Given the description of an element on the screen output the (x, y) to click on. 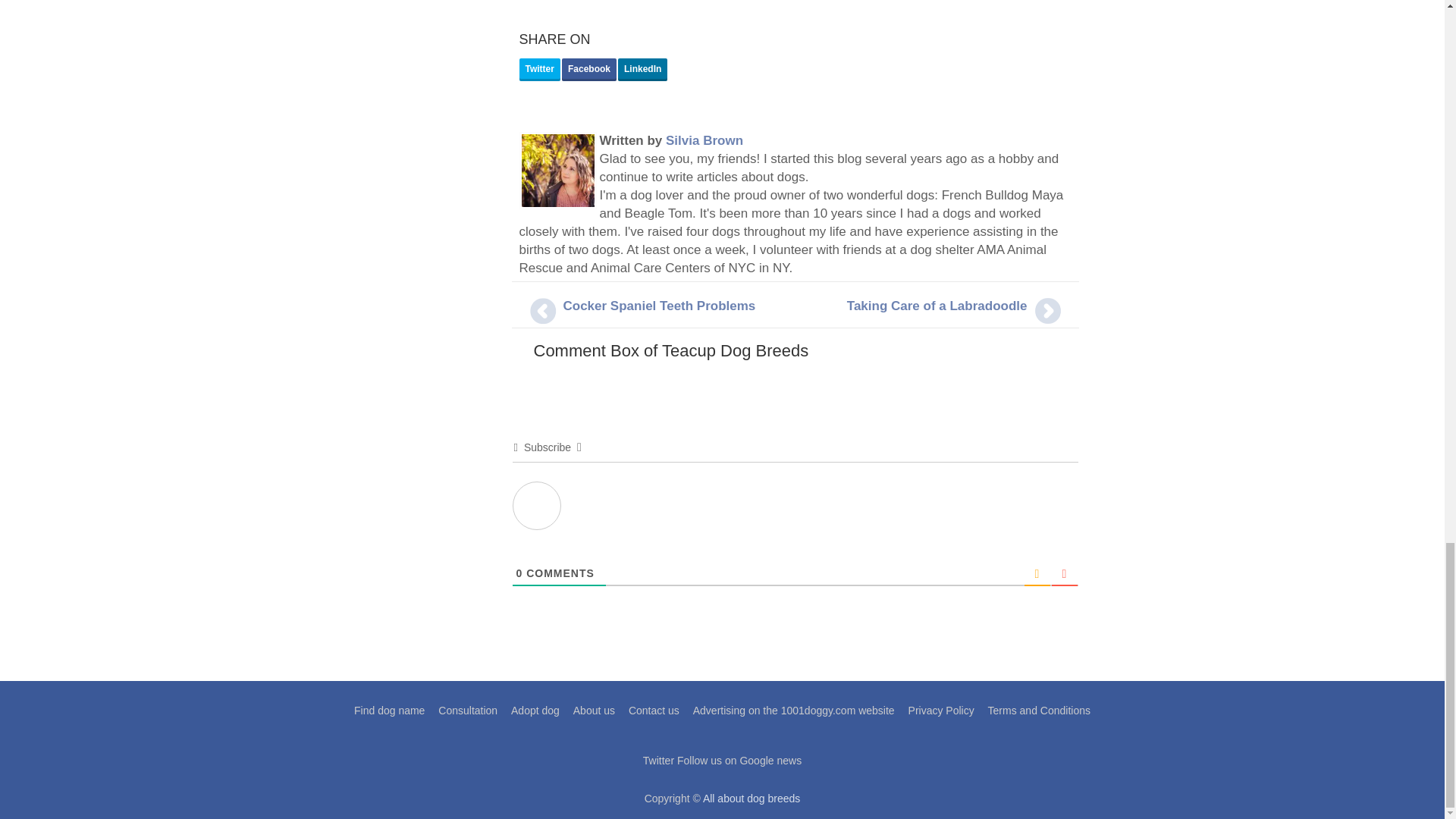
Taking Care of a Labradoodle (937, 305)
Silvia Brown (703, 140)
Facebook (588, 69)
LinkedIn (641, 69)
Cocker Spaniel Teeth Problems (658, 305)
Twitter (538, 69)
